Given the description of an element on the screen output the (x, y) to click on. 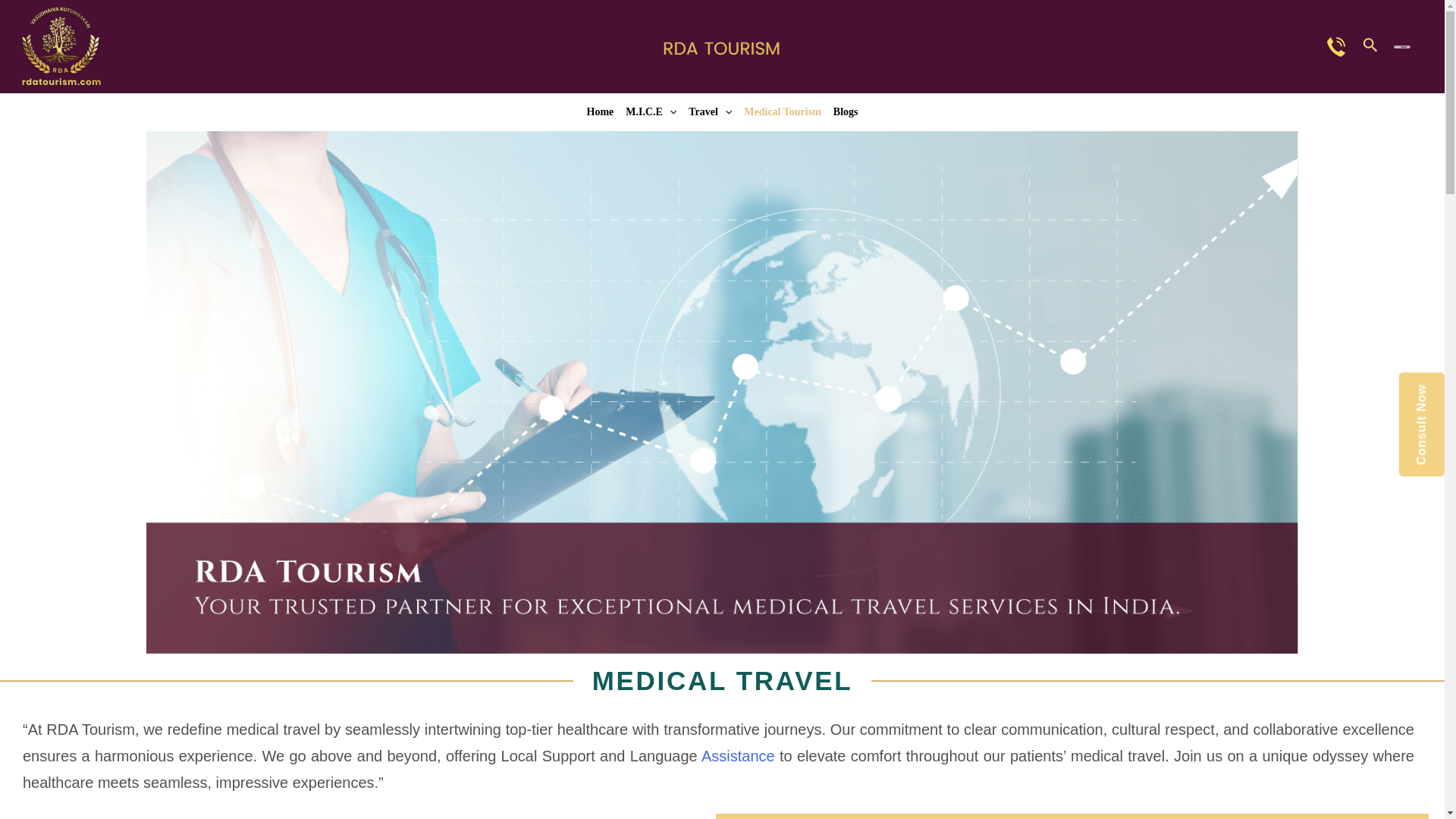
M.I.C.E (651, 112)
Travel (710, 112)
Medical Tourism (782, 112)
Blogs (845, 112)
Home (600, 112)
